Given the description of an element on the screen output the (x, y) to click on. 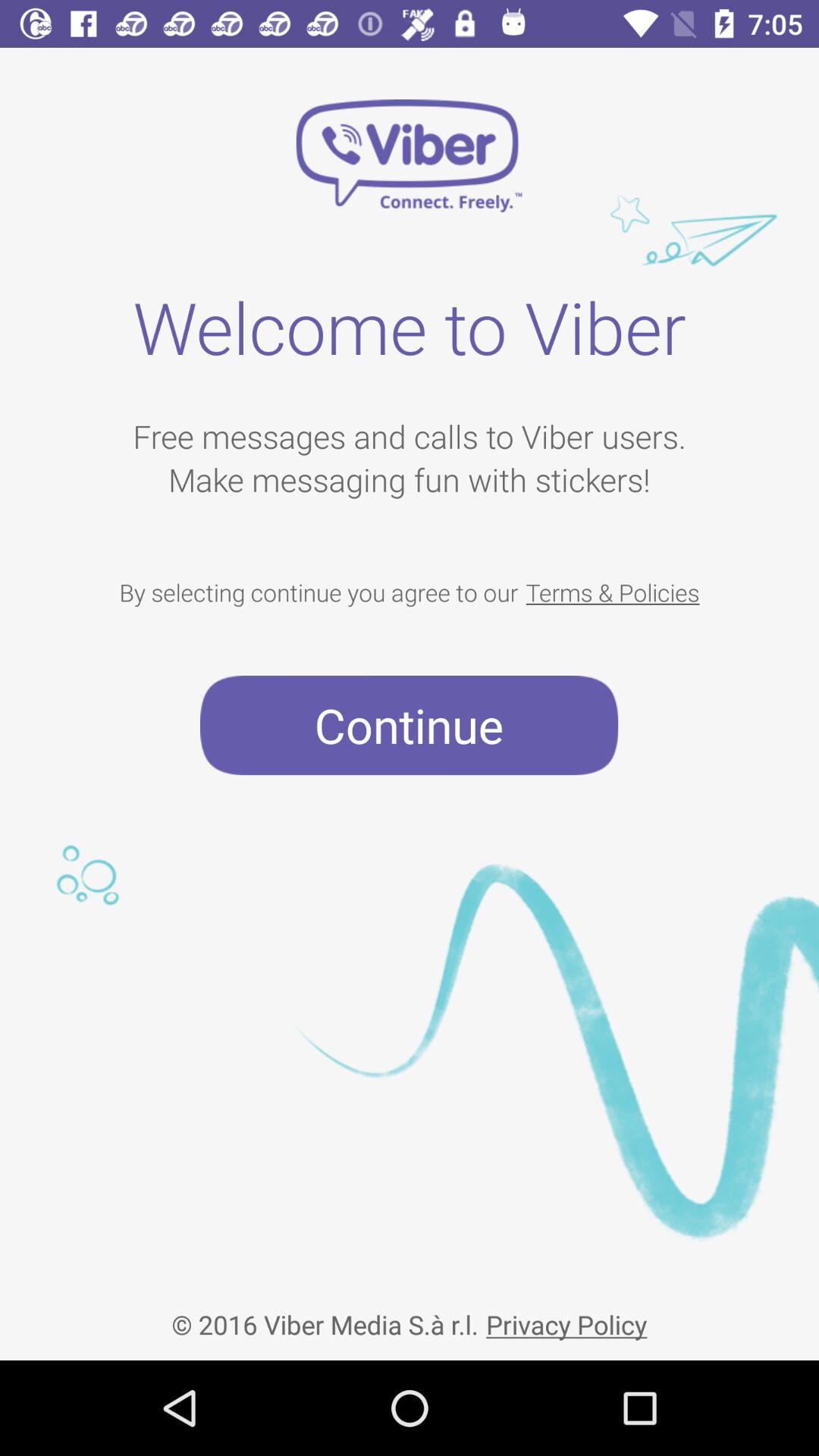
open the icon to the right of by selecting continue item (612, 592)
